Given the description of an element on the screen output the (x, y) to click on. 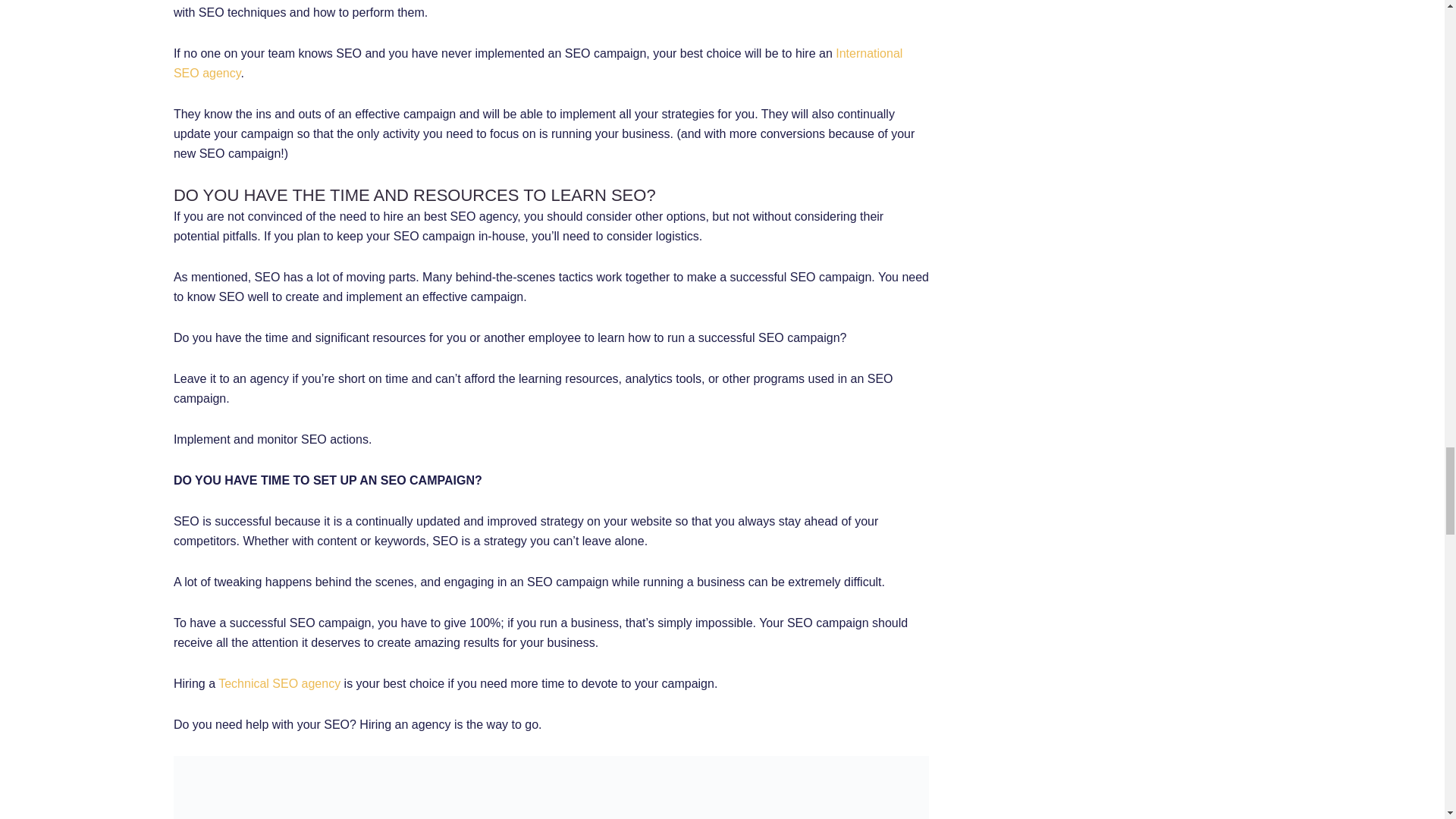
Technical SEO agency (279, 683)
International SEO agency (537, 62)
